Given the description of an element on the screen output the (x, y) to click on. 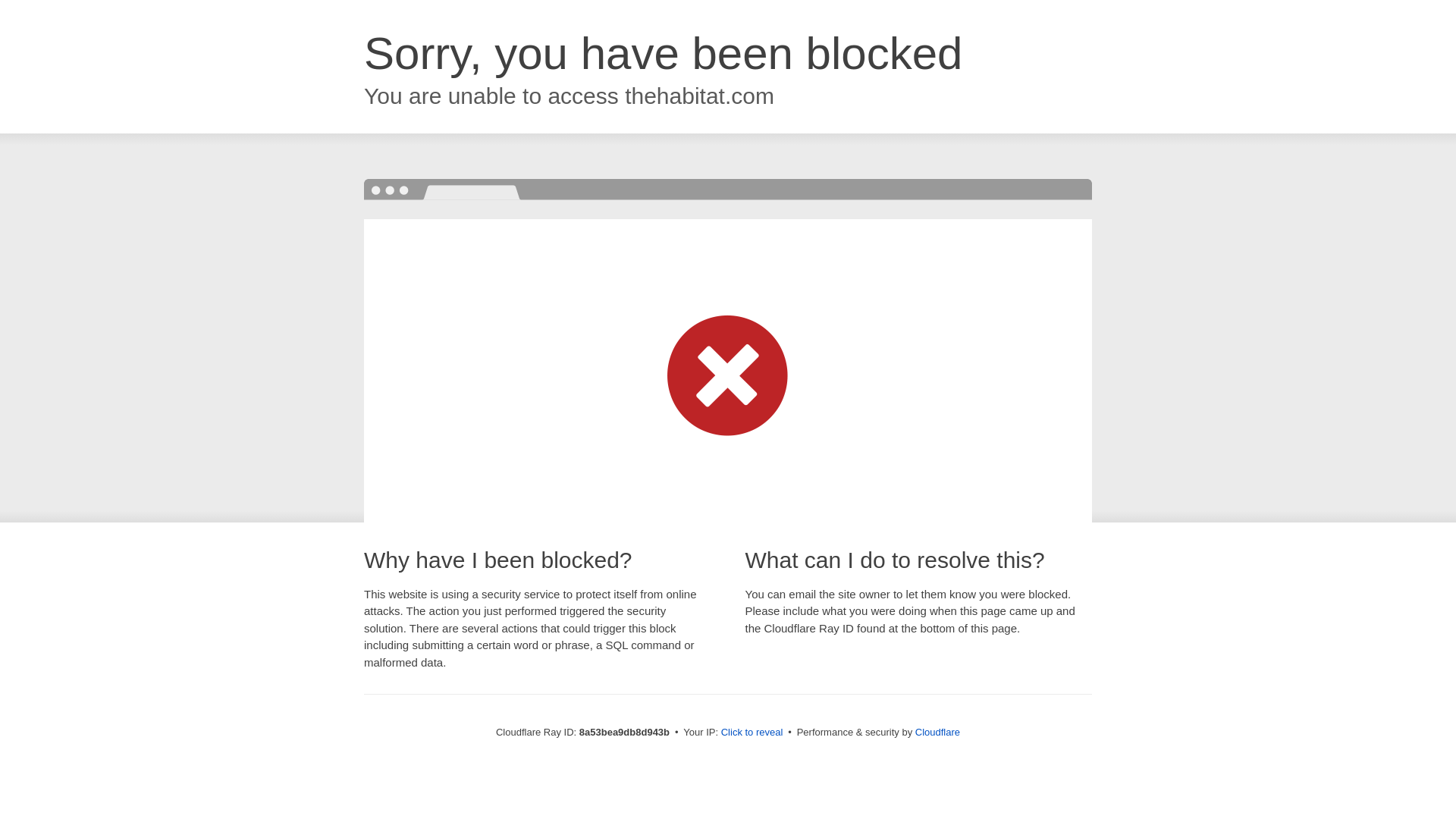
Click to reveal (751, 732)
Cloudflare (937, 731)
